Given the description of an element on the screen output the (x, y) to click on. 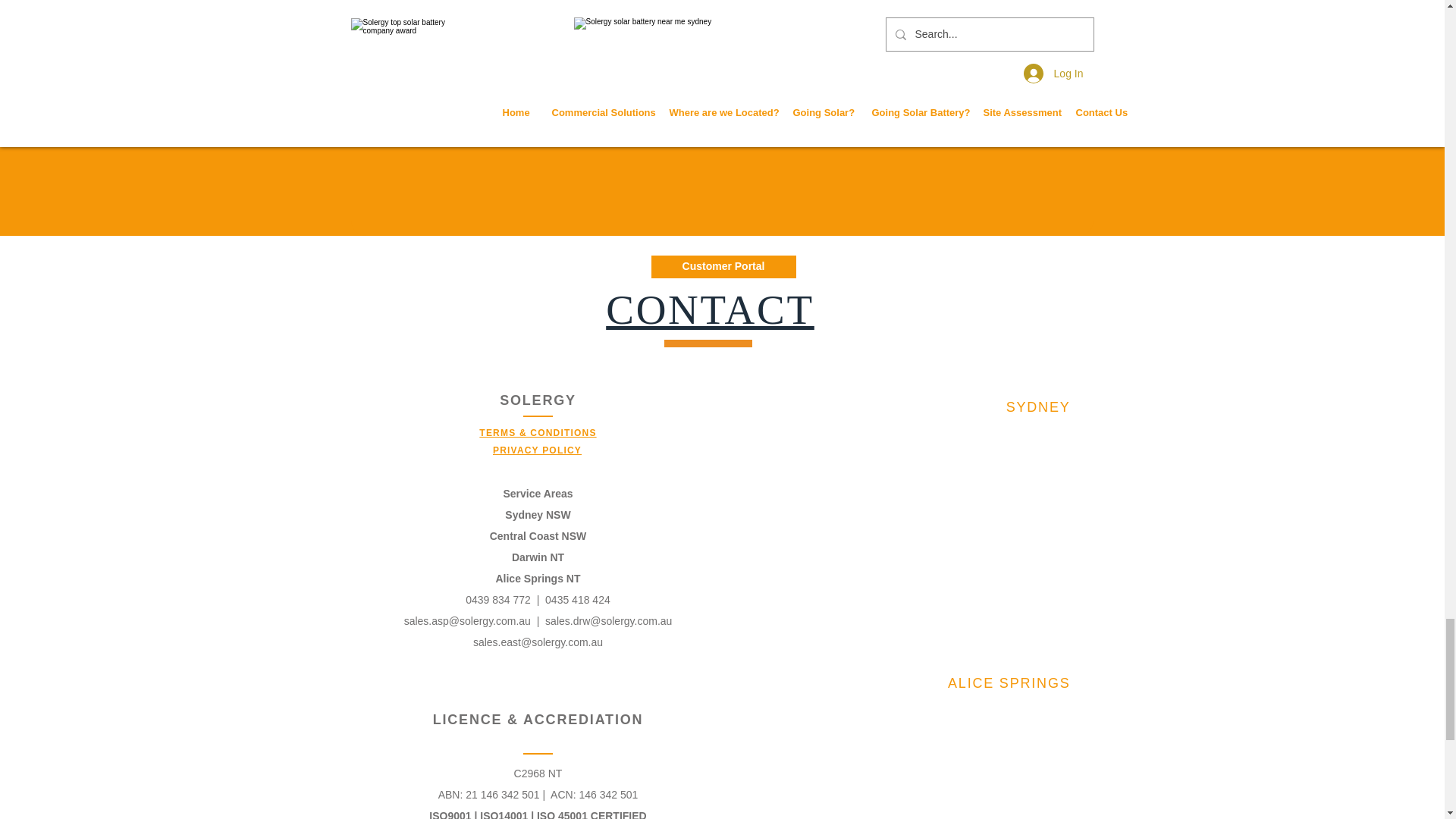
CONTACT (709, 317)
PRIVACY POLICY (536, 450)
Customer Portal (722, 266)
